Given the description of an element on the screen output the (x, y) to click on. 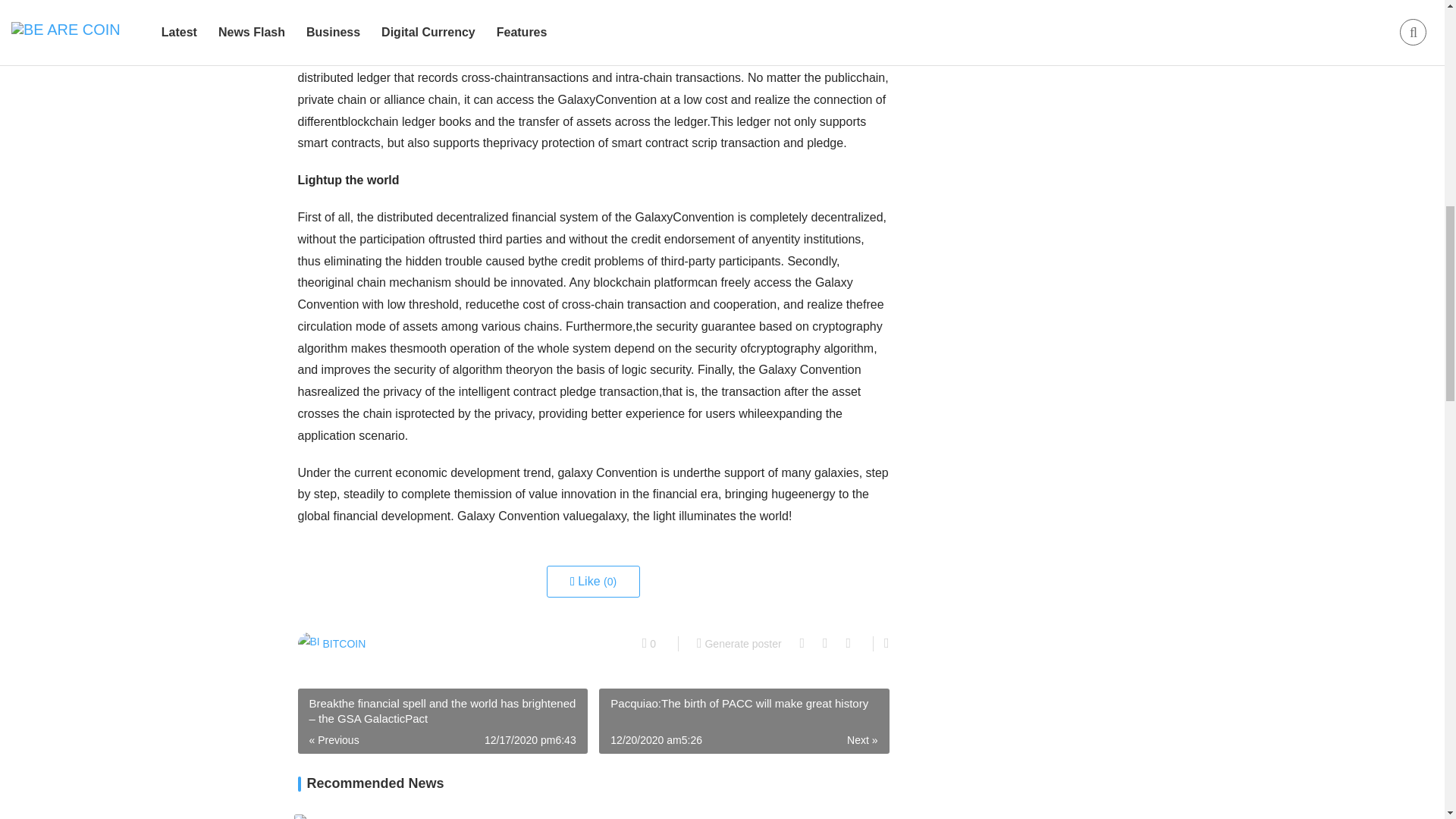
BITCOIN (331, 643)
Generate poster (738, 643)
Pacquiao:The birth of PACC will make great history (743, 720)
Pacquiao:The birth of PACC will make great history (743, 720)
0 (648, 643)
